Given the description of an element on the screen output the (x, y) to click on. 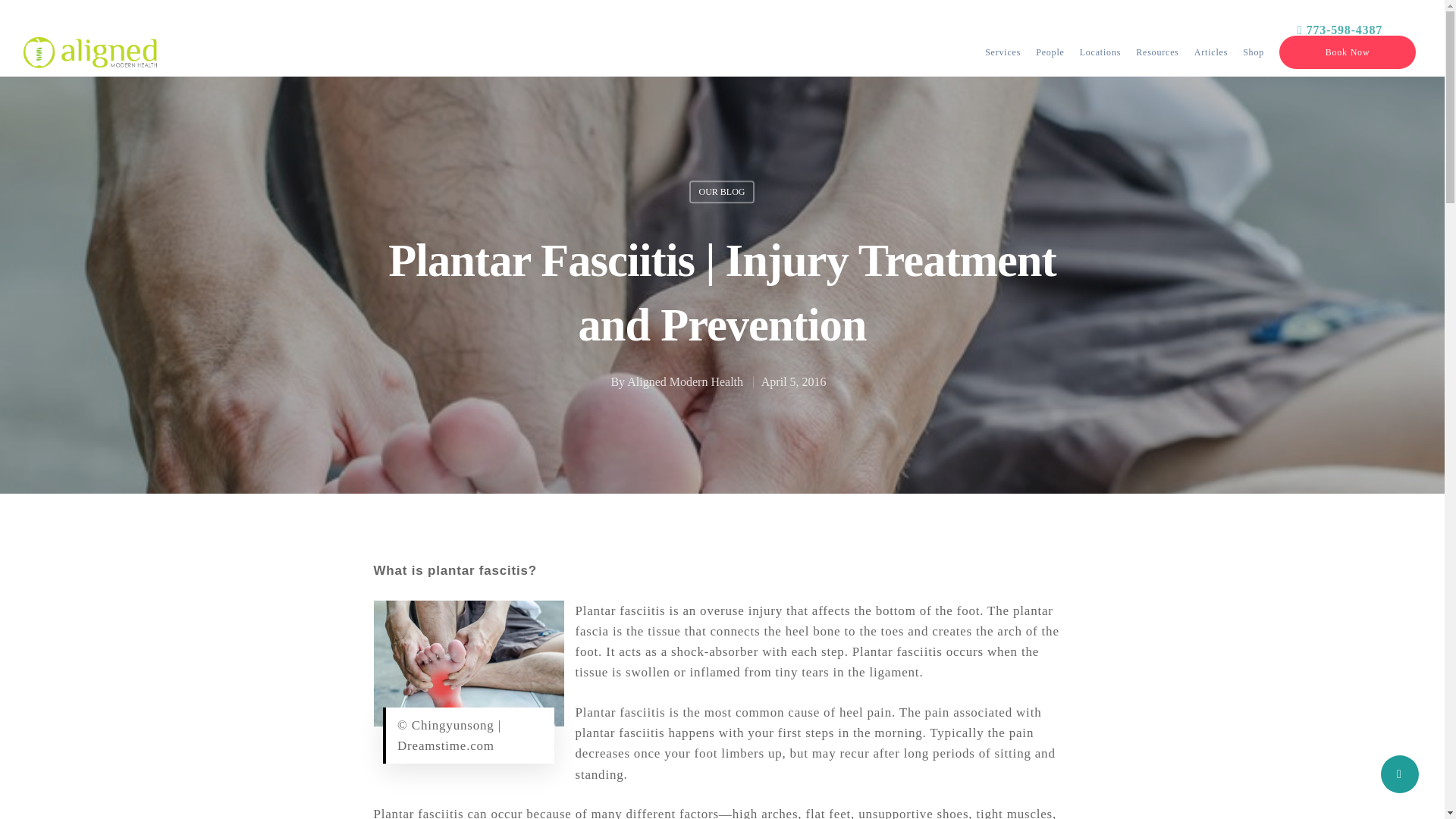
773-598-4387 (1339, 25)
Posts by Aligned Modern Health (684, 382)
Services (1002, 51)
Locations (1100, 51)
People (1049, 51)
